Given the description of an element on the screen output the (x, y) to click on. 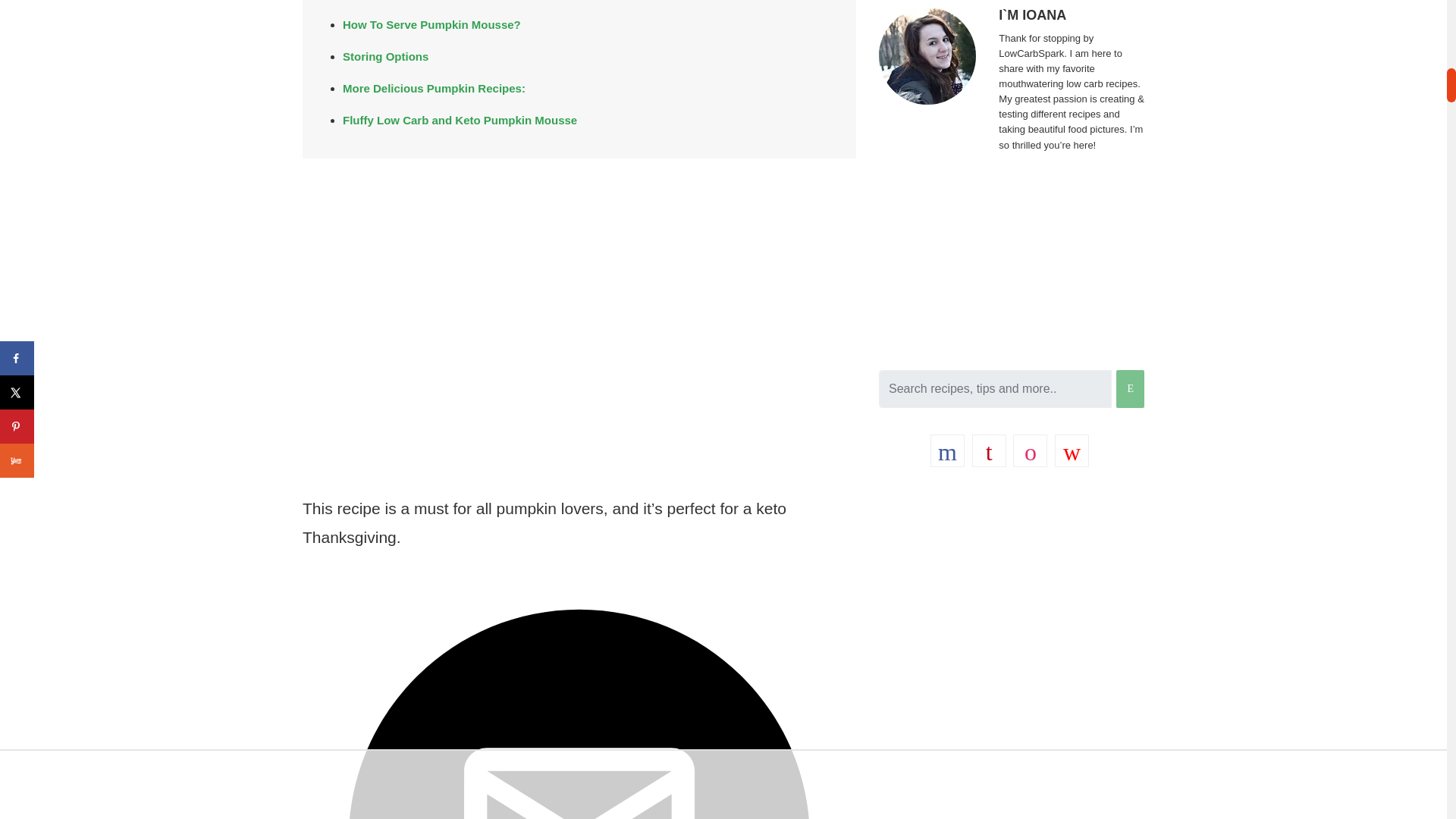
How To Serve Pumpkin Mousse? (431, 24)
Storing Options (385, 56)
Fluffy Low Carb and Keto Pumpkin Mousse (459, 119)
More Delicious Pumpkin Recipes: (433, 88)
